Given the description of an element on the screen output the (x, y) to click on. 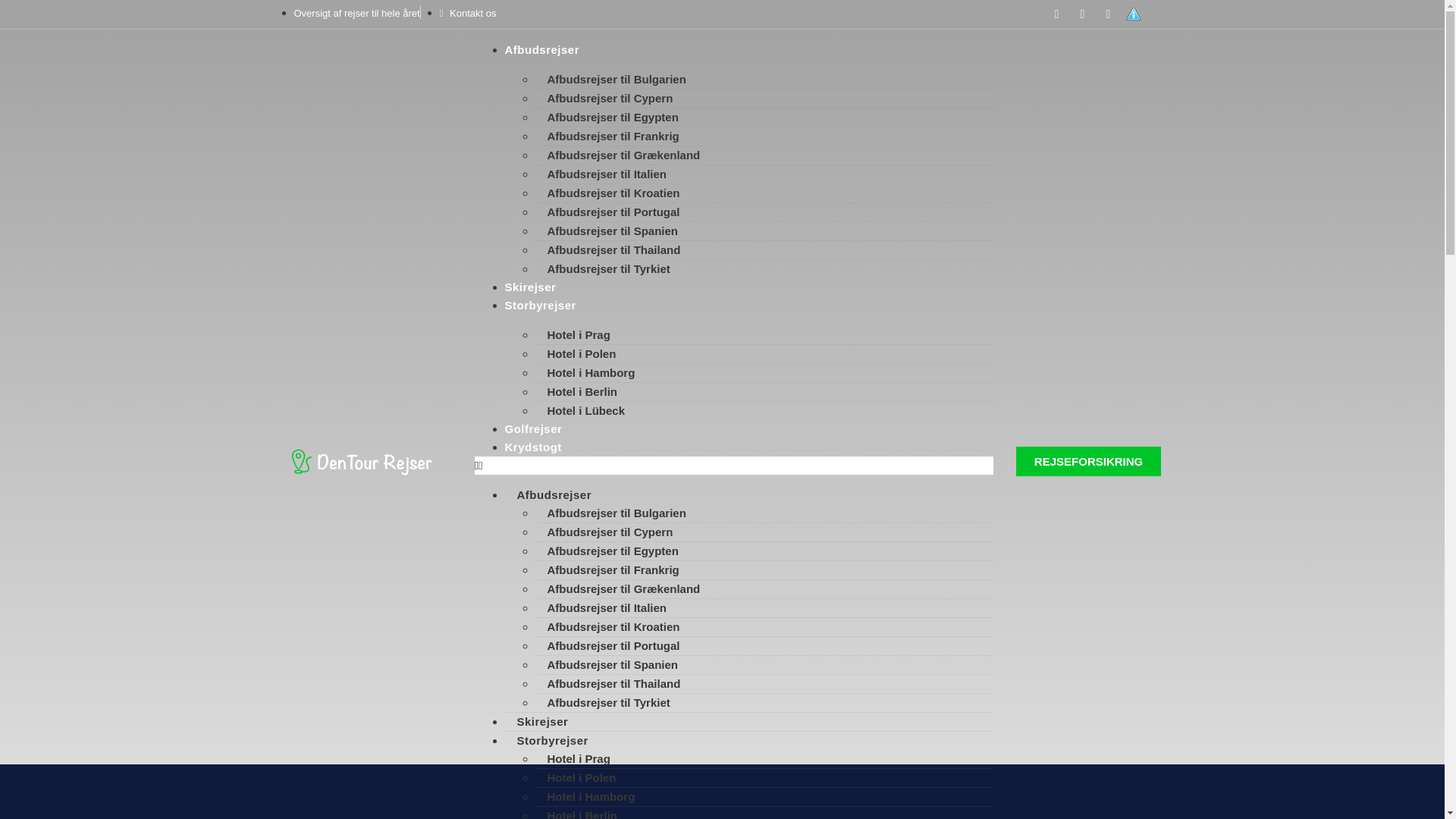
Afbudsrejser til Portugal (614, 644)
Afbudsrejser til Tyrkiet (608, 702)
Afbudsrejser til Cypern (610, 531)
Afbudsrejser til Bulgarien (616, 512)
Storbyrejser (540, 305)
Afbudsrejser til Frankrig (613, 135)
Afbudsrejser til Thailand (614, 249)
Kontakt os (467, 12)
Afbudsrejser til Spanien (612, 230)
Golfrejser (533, 428)
